Given the description of an element on the screen output the (x, y) to click on. 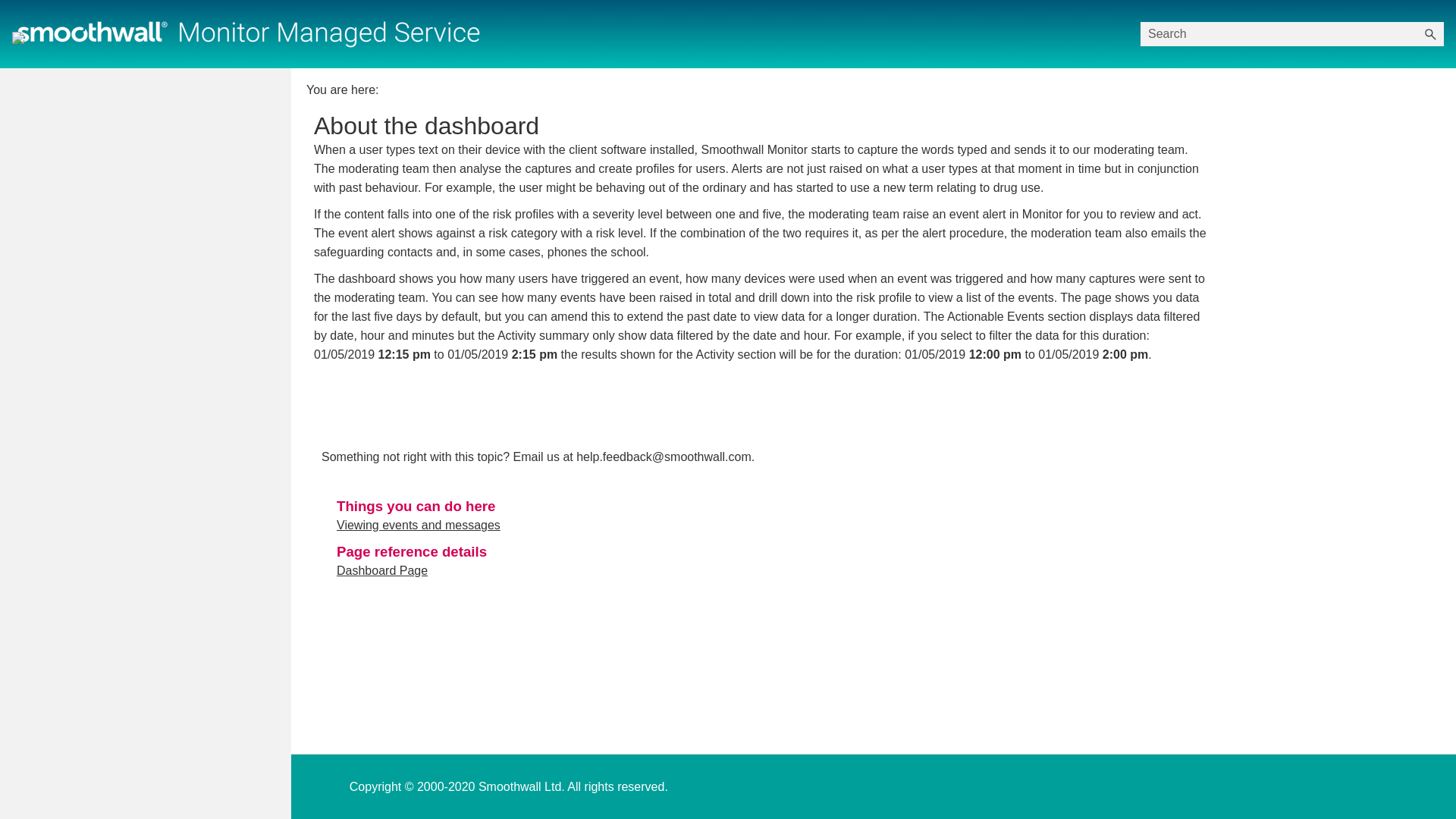
Dashboard Page (382, 570)
Search (1430, 33)
Viewing events and messages (418, 524)
